Given the description of an element on the screen output the (x, y) to click on. 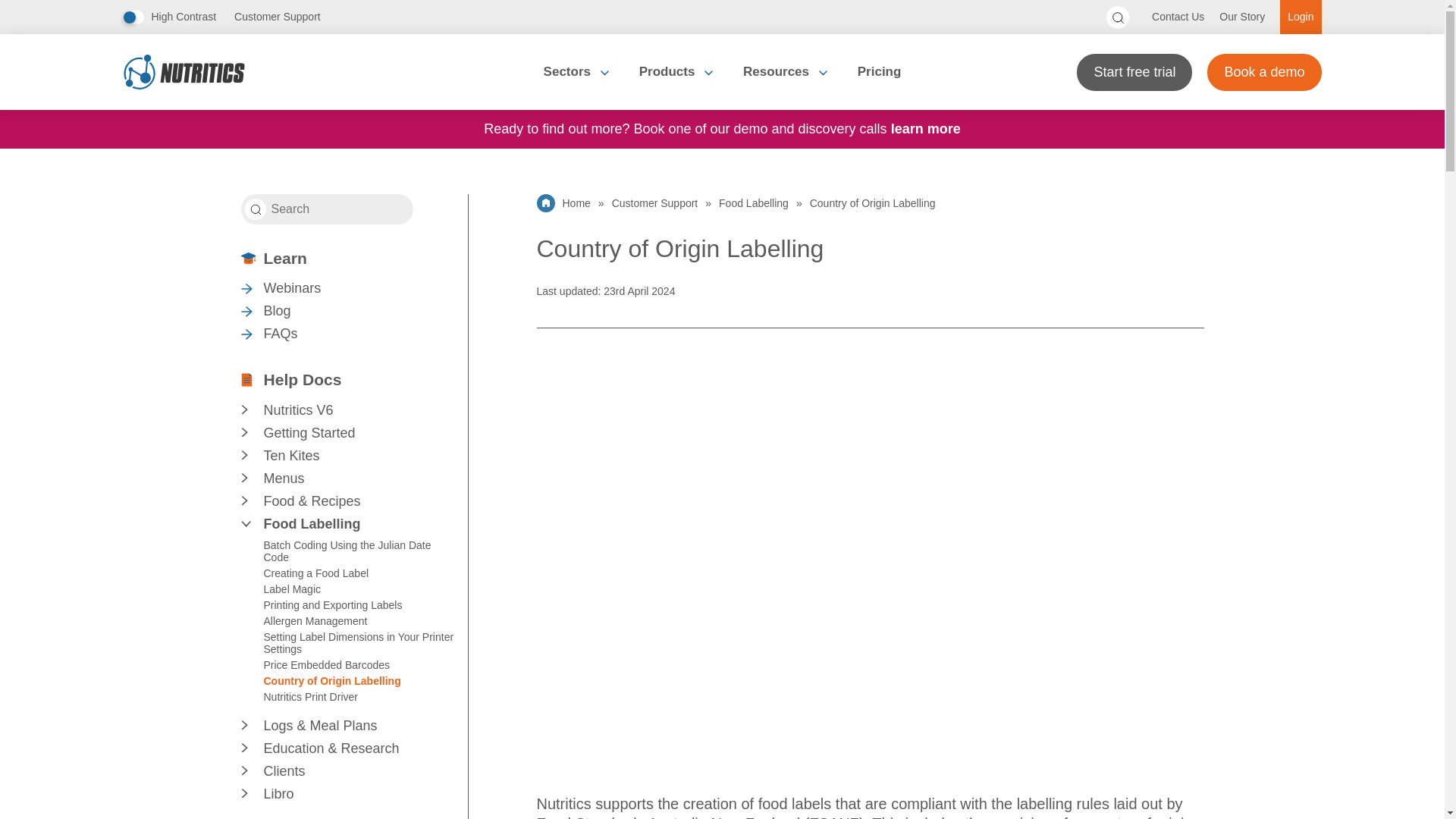
Sectors (576, 71)
Book a demo (1263, 71)
Login (1299, 17)
Start free trial (1134, 71)
Contact Us (1177, 17)
Products (676, 71)
Pricing (880, 71)
Our Story (1241, 17)
Resources (785, 71)
Customer Support (277, 16)
